Given the description of an element on the screen output the (x, y) to click on. 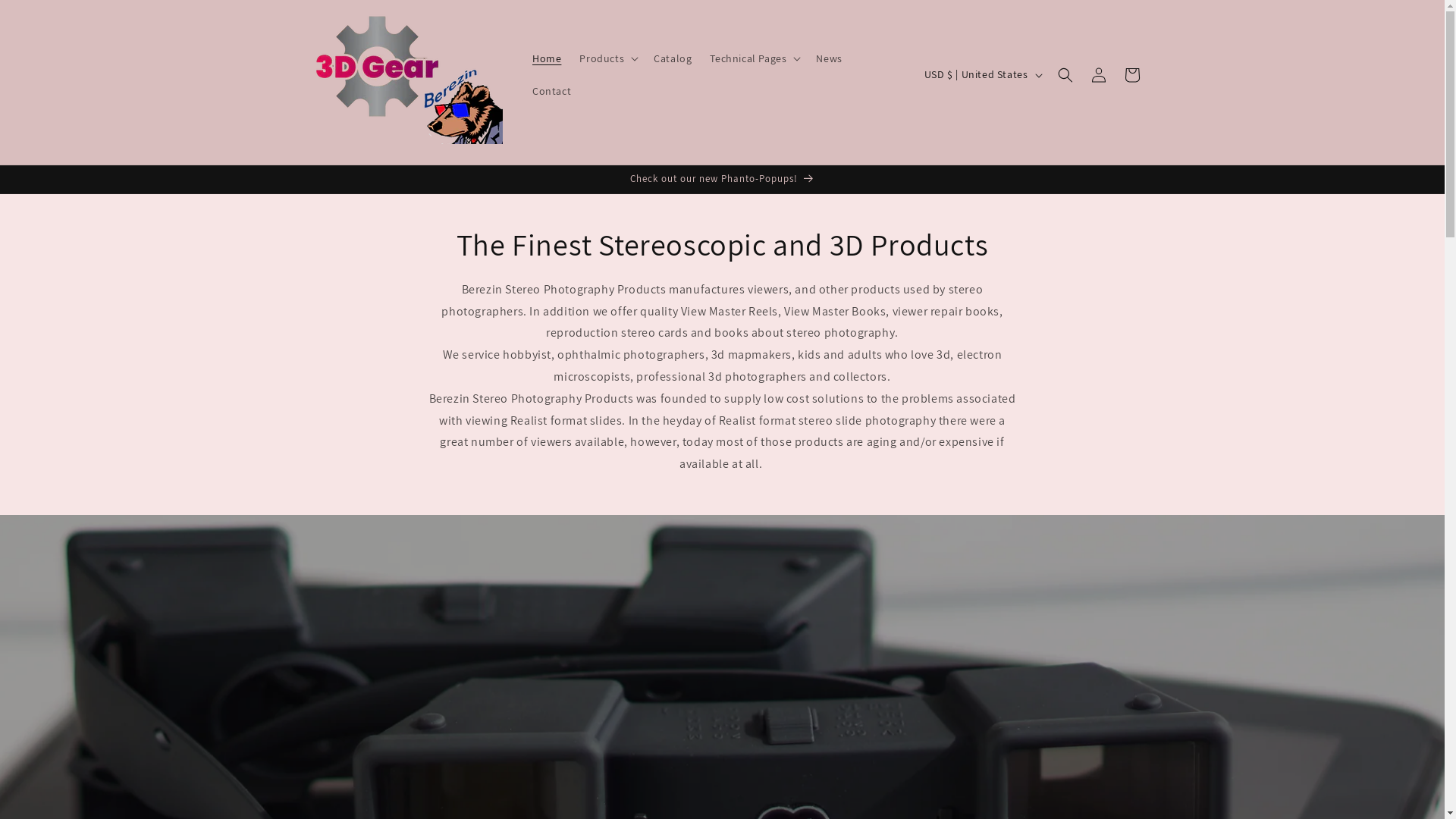
Contact Element type: text (551, 90)
Cart Element type: text (1131, 74)
Log in Element type: text (1097, 74)
Home Element type: text (546, 58)
USD $ | United States Element type: text (981, 75)
News Element type: text (828, 58)
Check out our new Phanto-Popups! Element type: text (722, 179)
Catalog Element type: text (672, 58)
